Given the description of an element on the screen output the (x, y) to click on. 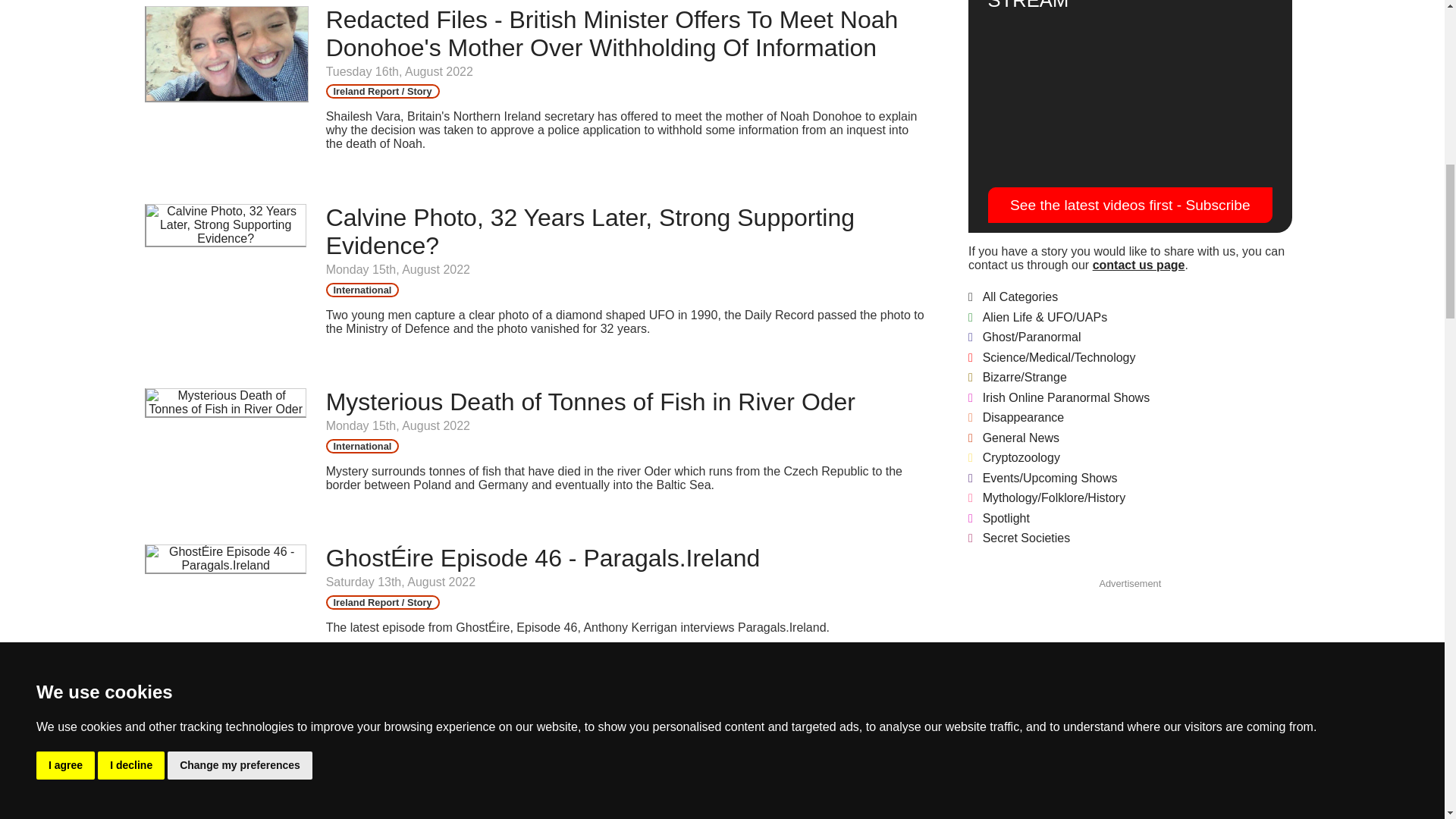
Mysterious Death of Tonnes of Fish in River Oder (591, 401)
Calvine Photo, 32 Years Later, Strong Supporting Evidence? (590, 231)
Earth On The Way For It's Sixth Extinction Event (586, 700)
